Given the description of an element on the screen output the (x, y) to click on. 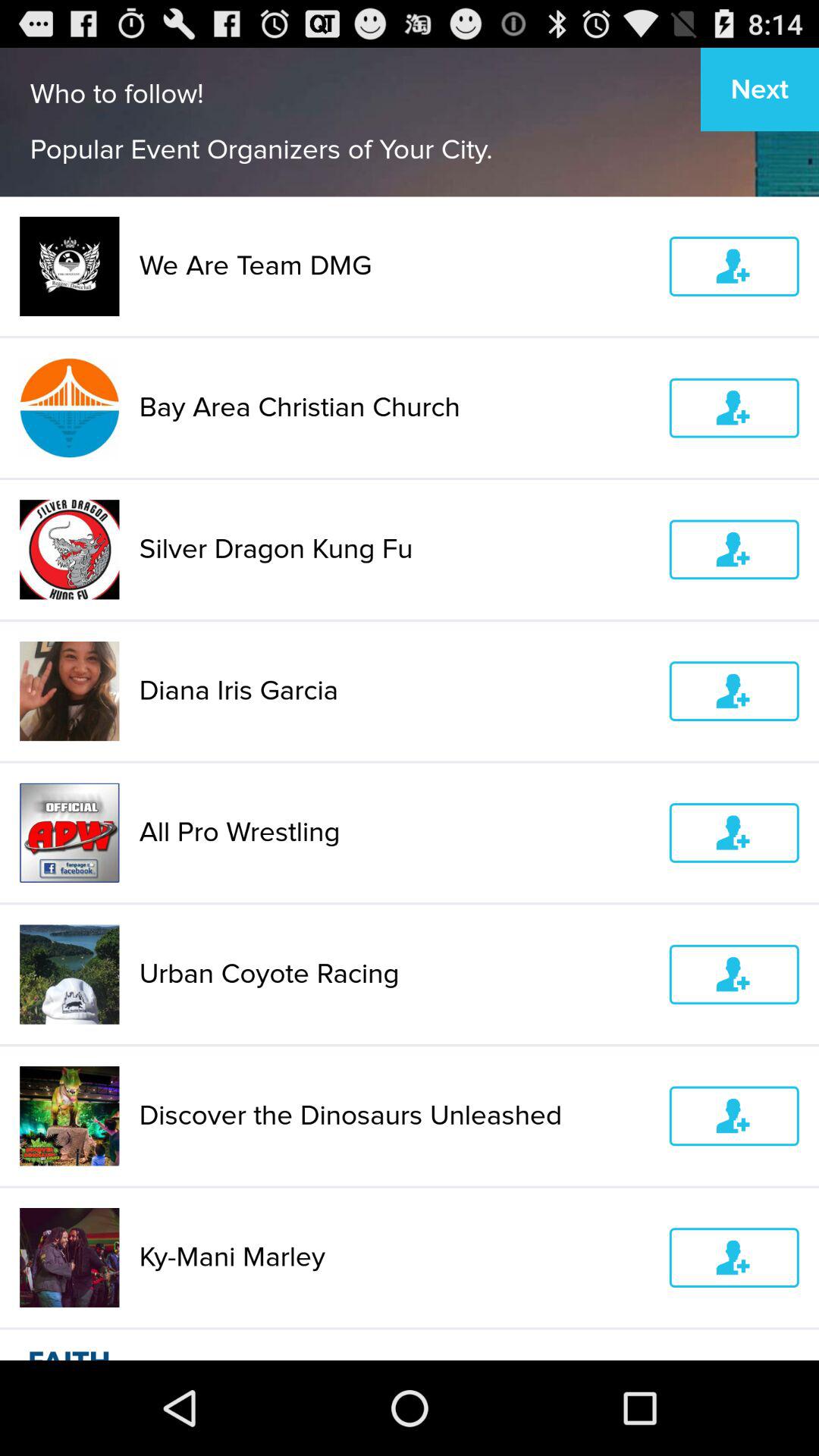
click the we are team item (394, 265)
